Given the description of an element on the screen output the (x, y) to click on. 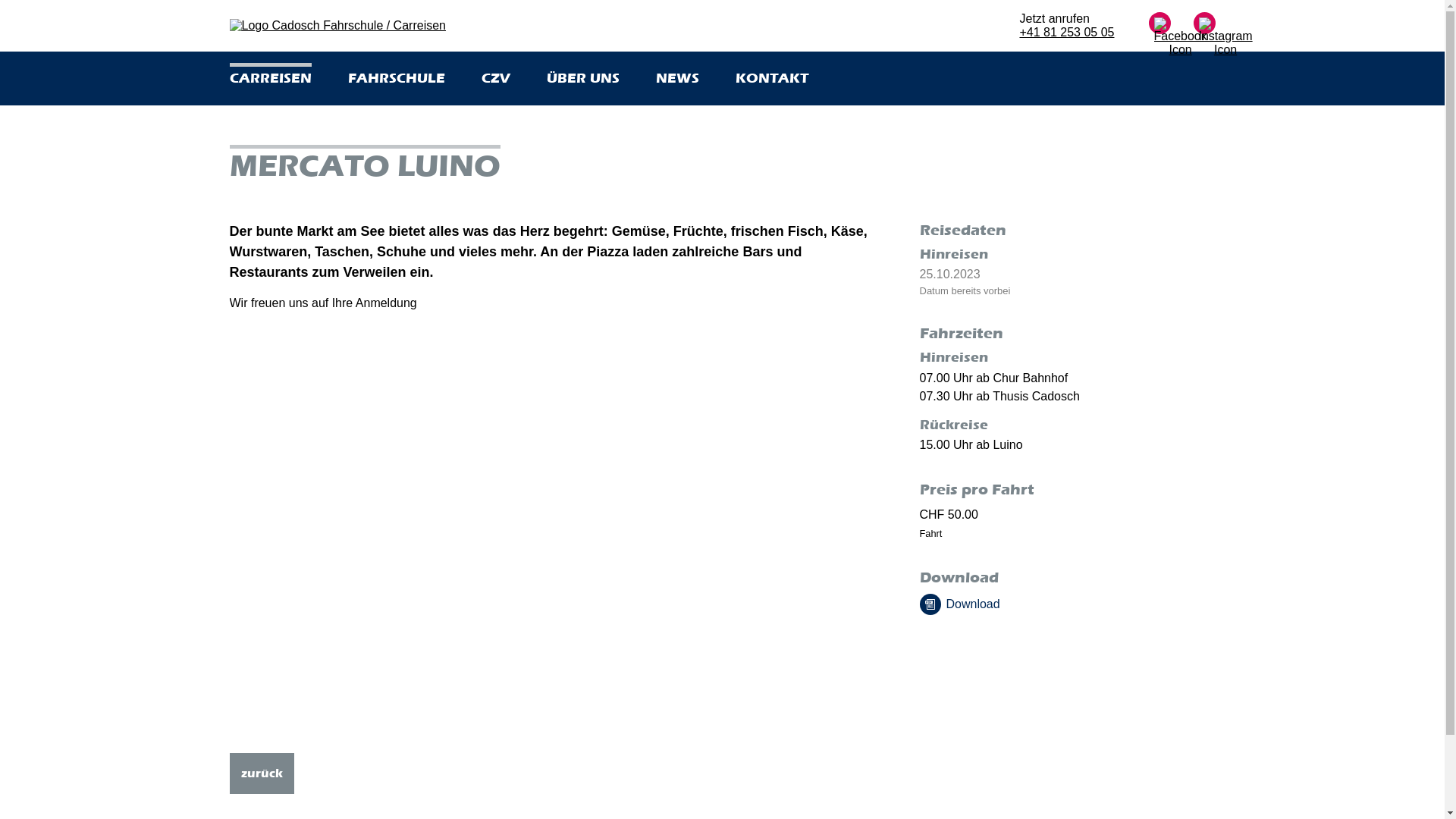
CARREISEN Element type: text (269, 75)
Download Element type: text (1066, 604)
Folge Cadosch Fahrschule / Carreisen auf Instagram Element type: hover (1225, 37)
Startseite Element type: hover (337, 24)
Folge Cadosch Fahrschule / Carreisen auf Facebook Element type: hover (1180, 37)
Folge Cadosch Fahrschule / Carreisen auf Instagram Element type: hover (1203, 37)
KONTAKT Element type: text (771, 75)
Folge Cadosch Fahrschule / Carreisen auf Facebook Element type: hover (1159, 37)
CZV Element type: text (494, 75)
+41 81 253 05 05 Element type: text (1066, 31)
FAHRSCHULE Element type: text (395, 75)
NEWS Element type: text (676, 75)
Cadosch Fahrschule / Carreisen Element type: hover (337, 25)
